Given the description of an element on the screen output the (x, y) to click on. 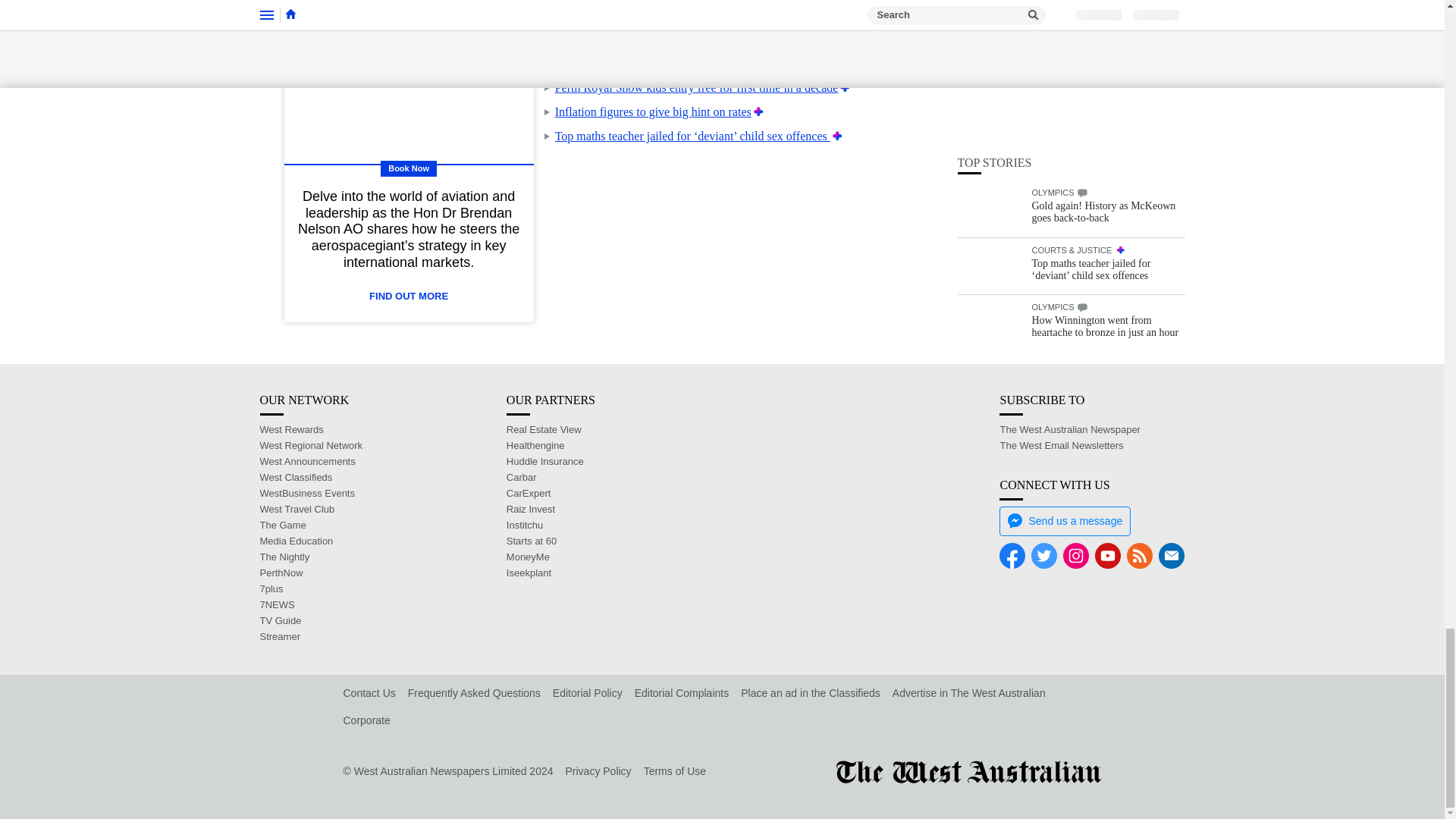
Premium (758, 111)
Premium (837, 135)
Premium (844, 87)
Premium (817, 14)
